Given the description of an element on the screen output the (x, y) to click on. 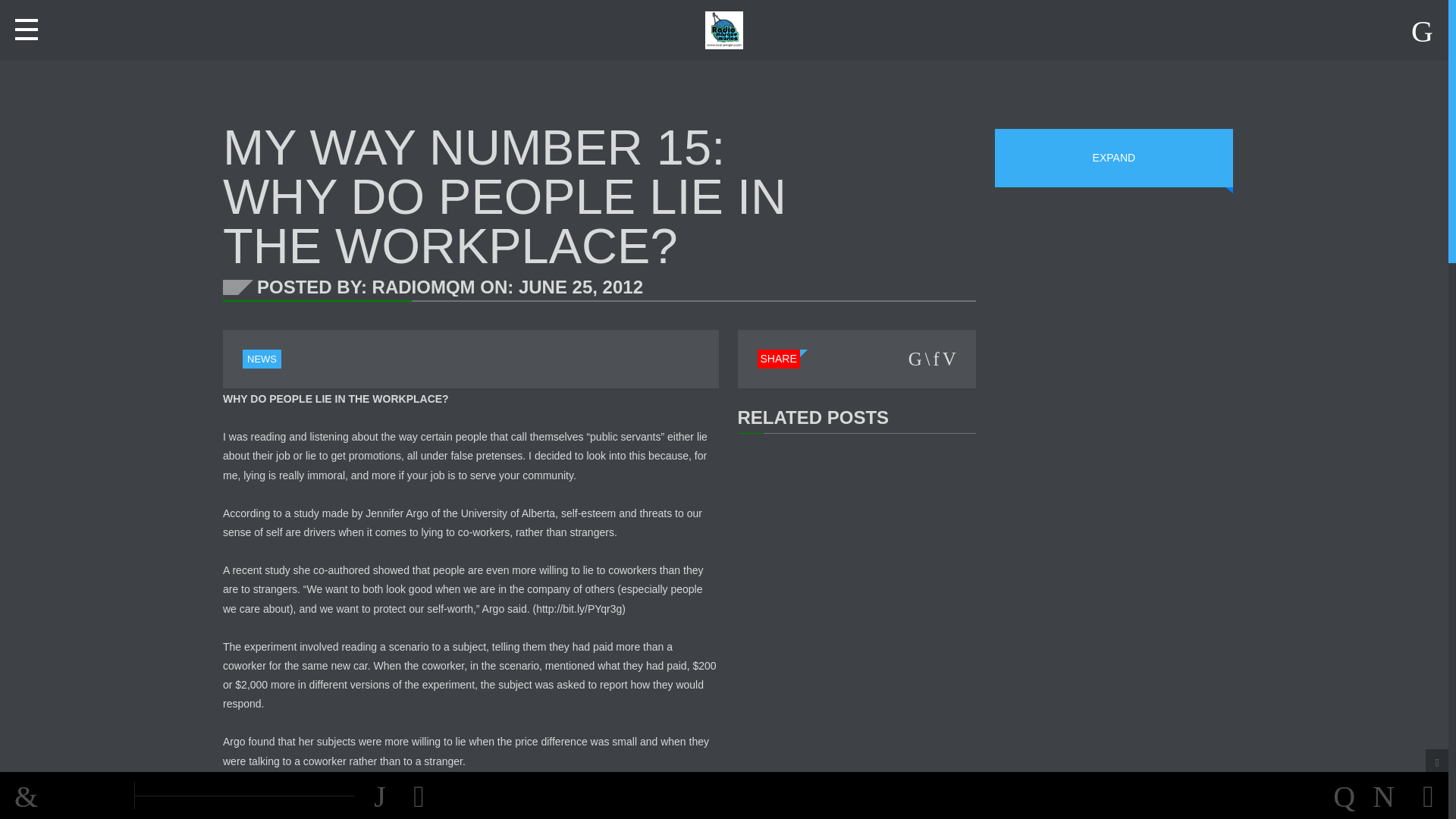
NEWS (262, 358)
